Given the description of an element on the screen output the (x, y) to click on. 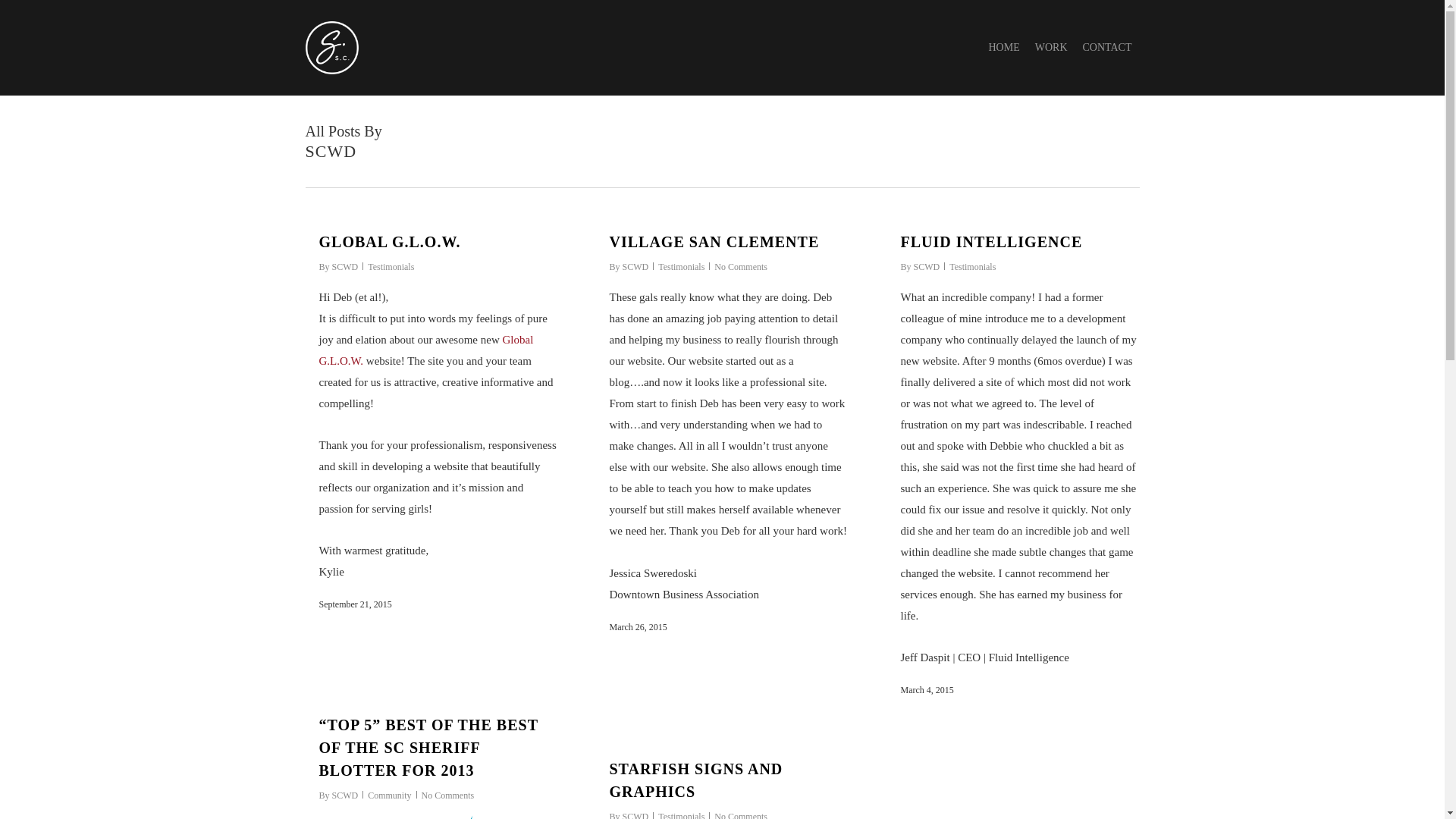
No Comments (740, 815)
FLUID INTELLIGENCE (992, 241)
Testimonials (390, 266)
Posts by SCWD (344, 266)
SCWD (636, 815)
Testimonials (972, 266)
Posts by SCWD (636, 266)
HOME (1002, 47)
SCWD (344, 266)
SCWD (927, 266)
